Given the description of an element on the screen output the (x, y) to click on. 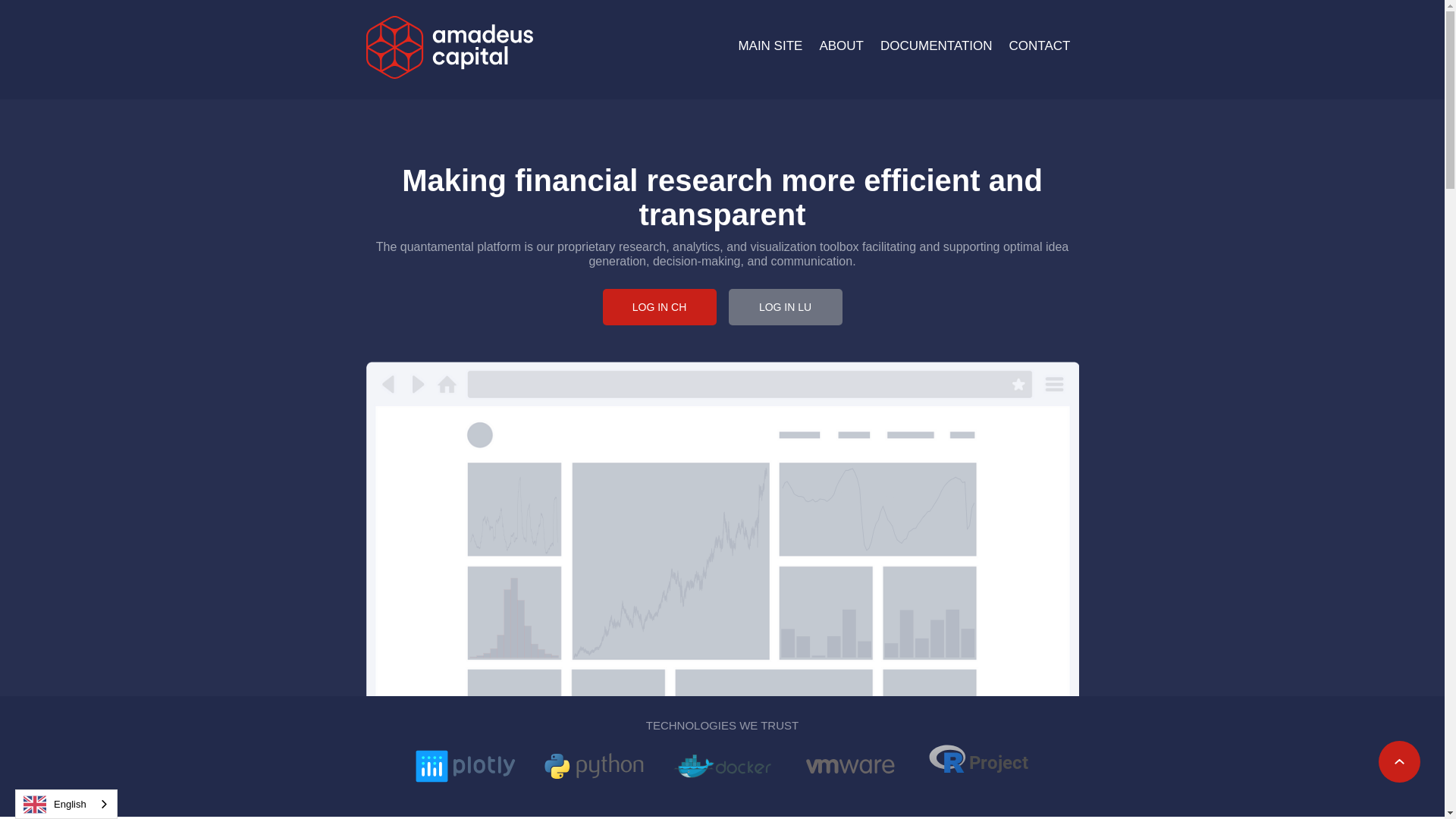
DOCUMENTATION Element type: text (936, 45)
English Element type: text (65, 804)
LOG IN LU Element type: text (784, 306)
MAIN SITE Element type: text (769, 45)
CONTACT Element type: text (1039, 45)
ABOUT Element type: text (841, 45)
LOG IN CH Element type: text (658, 306)
